Given the description of an element on the screen output the (x, y) to click on. 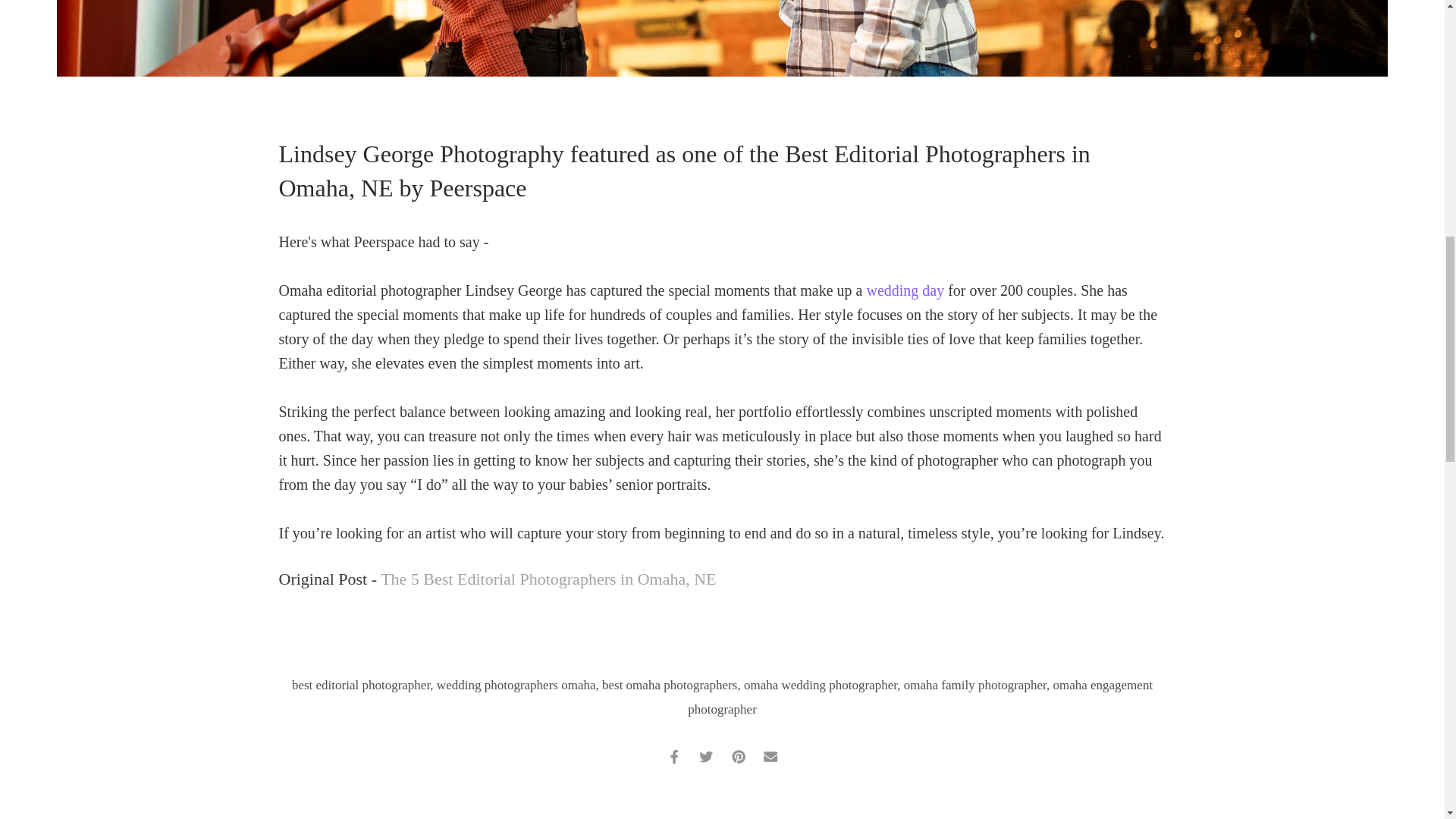
omaha family photographer (975, 685)
wedding photographers omaha (515, 685)
omaha wedding photographer (820, 685)
The 5 Best Editorial Photographers in Omaha, NE (548, 578)
wedding day (904, 289)
omaha engagement photographer (920, 697)
best omaha photographers (669, 685)
best editorial photographer (360, 685)
